Given the description of an element on the screen output the (x, y) to click on. 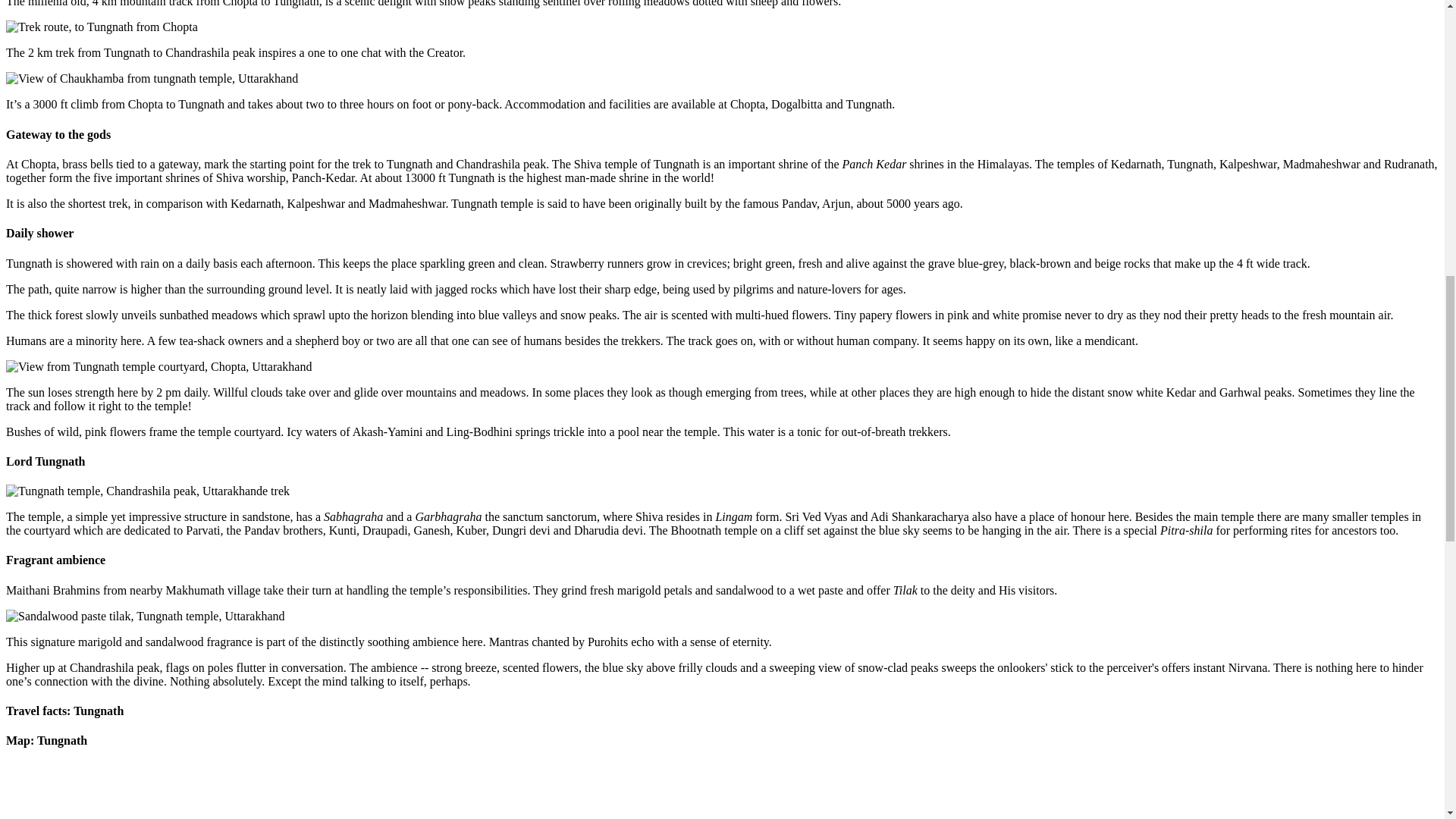
View from Tungnath temple courtyard, Chopta, Uttarakhand (158, 366)
Trek route, to Tungnath from Chopta (101, 27)
Chandan tilak, Tungnath temple, Uttarakhand (145, 616)
View of Chaukhamba from tungnath temple, Uttarakhand (151, 78)
Tungnath temple, Chandrashila peak, Uttarakhande trek (147, 490)
